Given the description of an element on the screen output the (x, y) to click on. 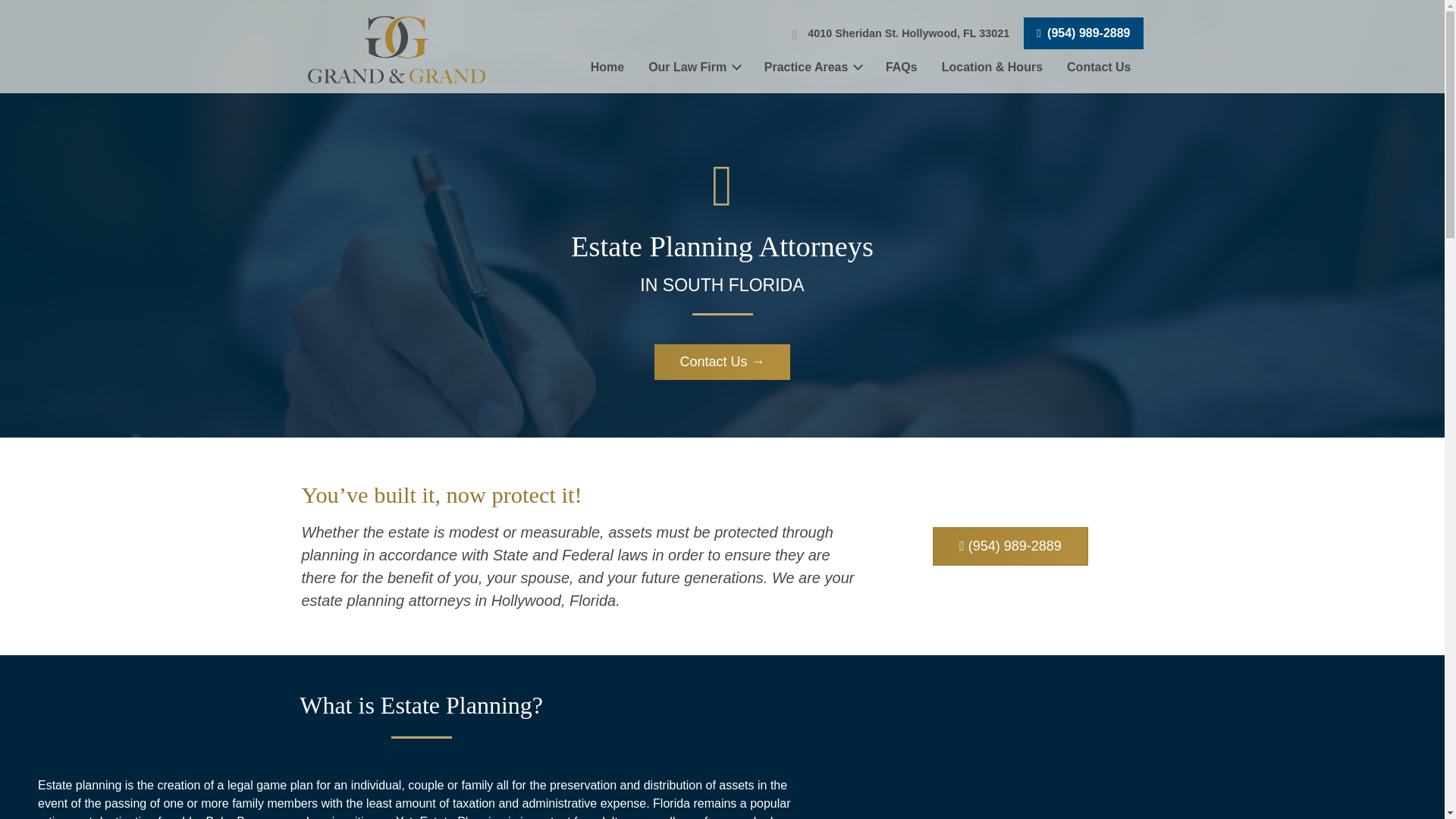
Contact Us (1098, 67)
Our Law Firm (694, 67)
FAQs (901, 67)
Practice Areas (812, 67)
Home (607, 67)
